Given the description of an element on the screen output the (x, y) to click on. 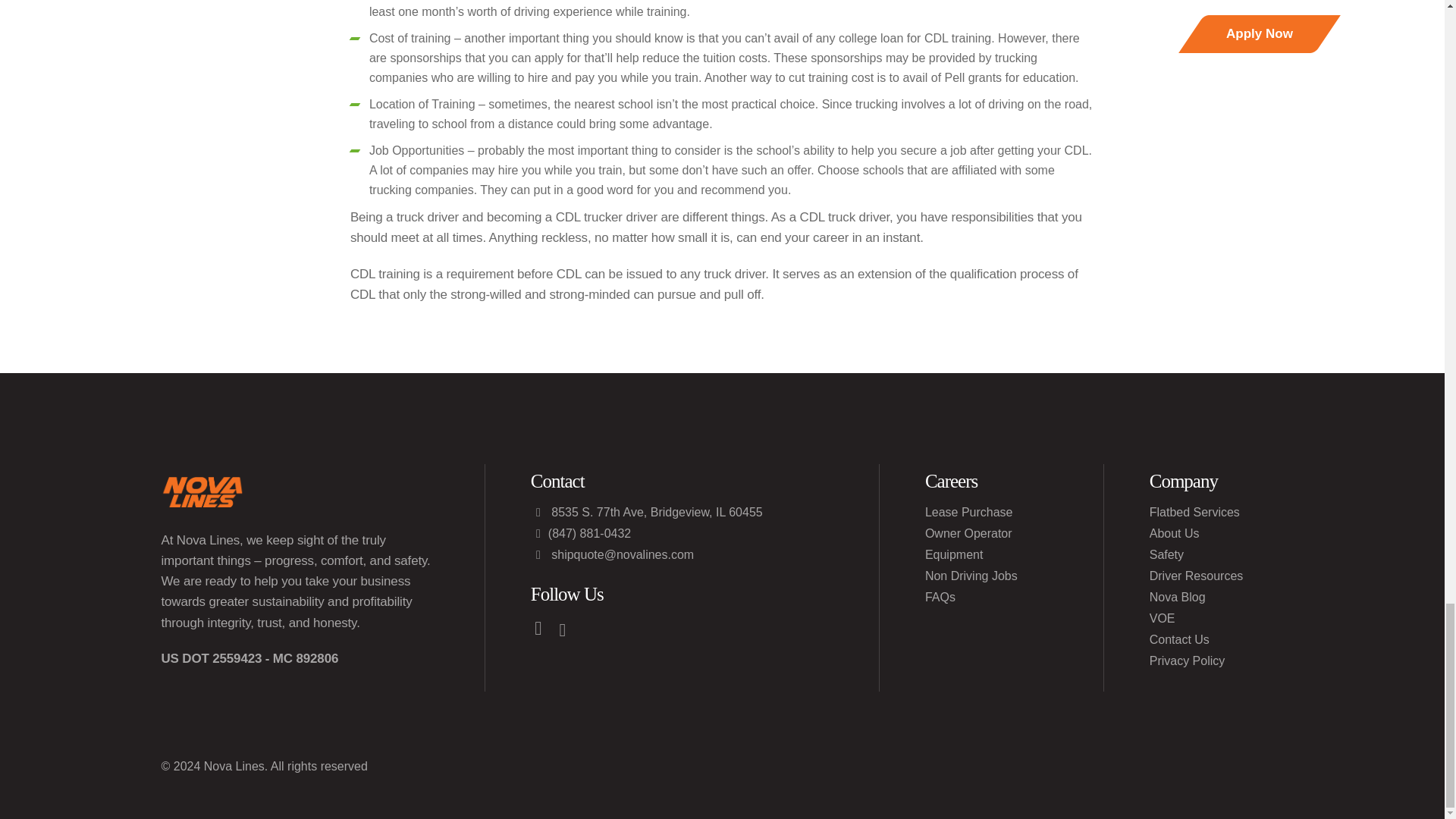
Privacy Policy (1187, 661)
Nova Blog (1177, 597)
Safety (1166, 554)
VOE (1162, 618)
Flatbed Services (1195, 512)
FAQs (939, 597)
About Us (1174, 533)
Equipment (954, 554)
8535 S. 77th Ave, Bridgeview, IL 60455 (646, 512)
Contact Us (1179, 640)
